Given the description of an element on the screen output the (x, y) to click on. 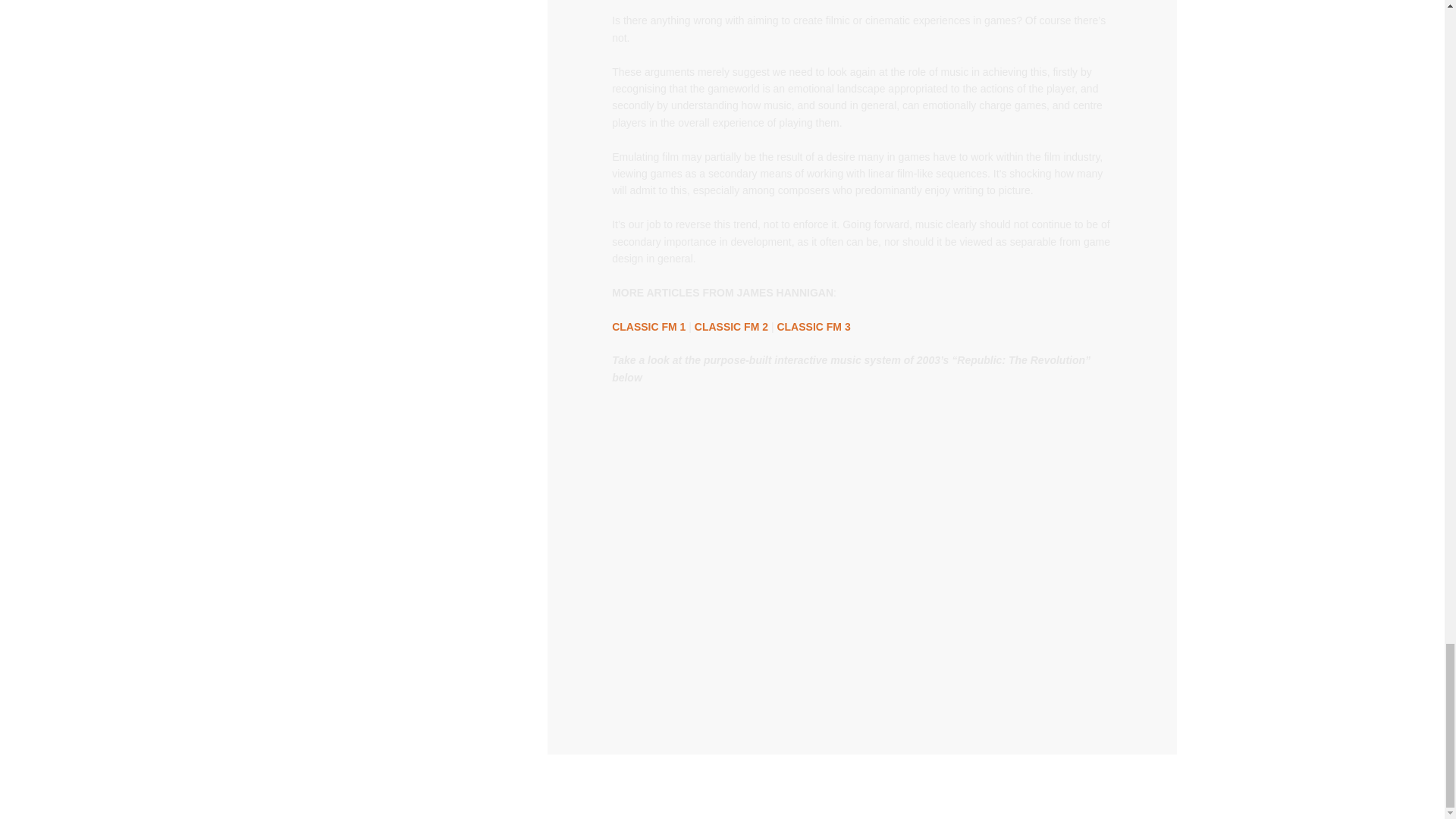
CLASSIC FM 2 (731, 326)
CLASSIC FM 3 (813, 326)
CLASSIC FM 1 (648, 326)
